Given the description of an element on the screen output the (x, y) to click on. 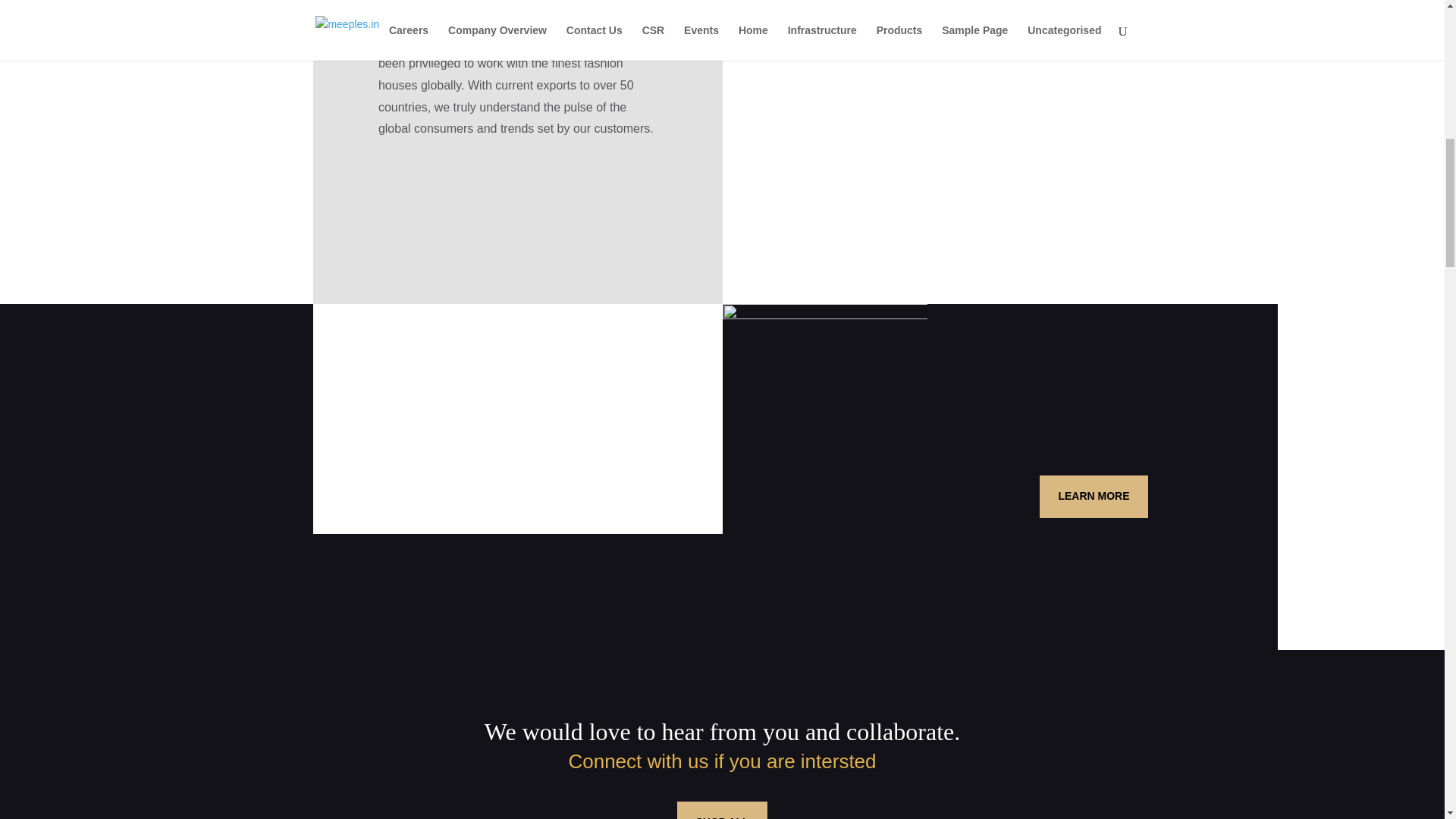
SHOP ALL (722, 810)
LEARN MORE (1093, 496)
